Given the description of an element on the screen output the (x, y) to click on. 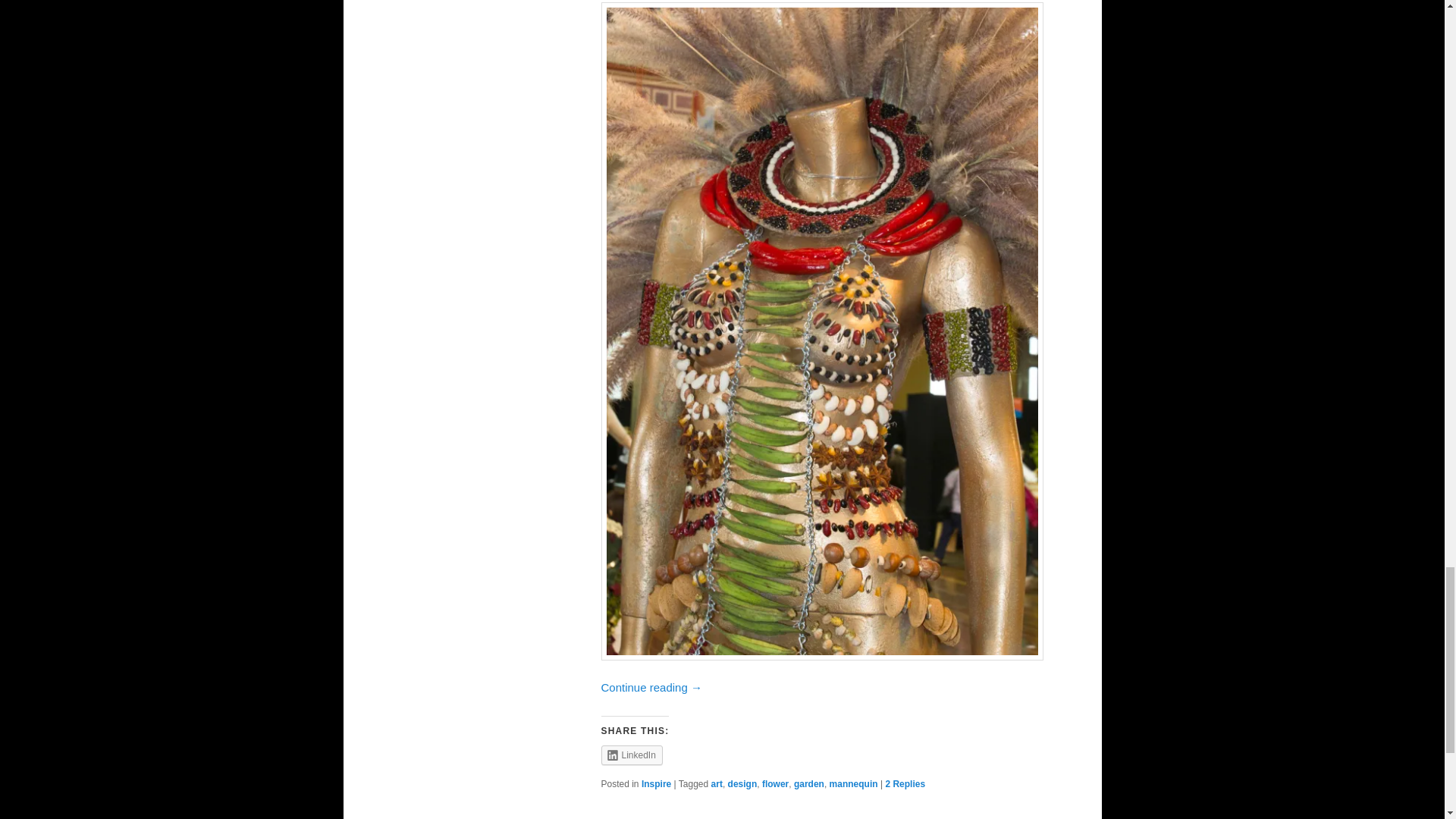
Click to share on LinkedIn (630, 754)
